Given the description of an element on the screen output the (x, y) to click on. 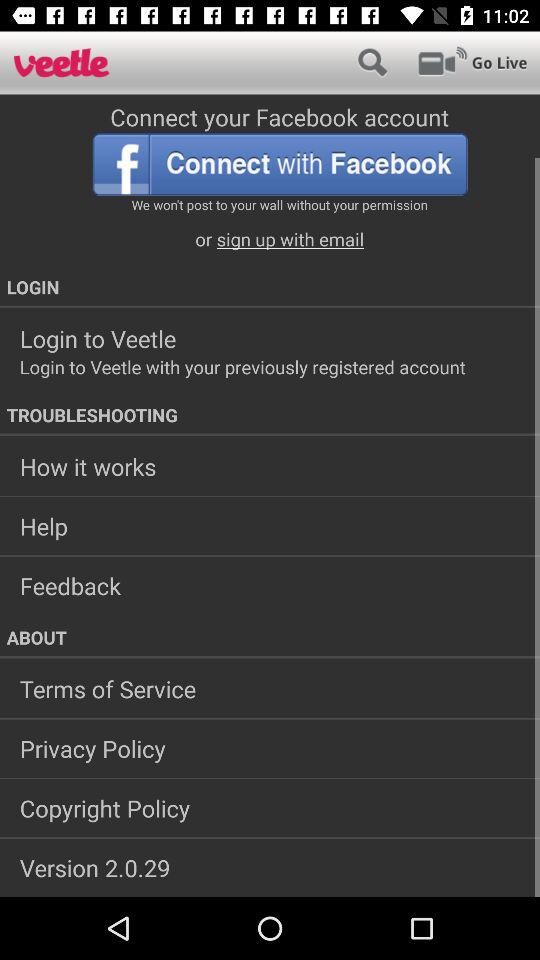
swipe until the version 2 0 item (270, 867)
